Given the description of an element on the screen output the (x, y) to click on. 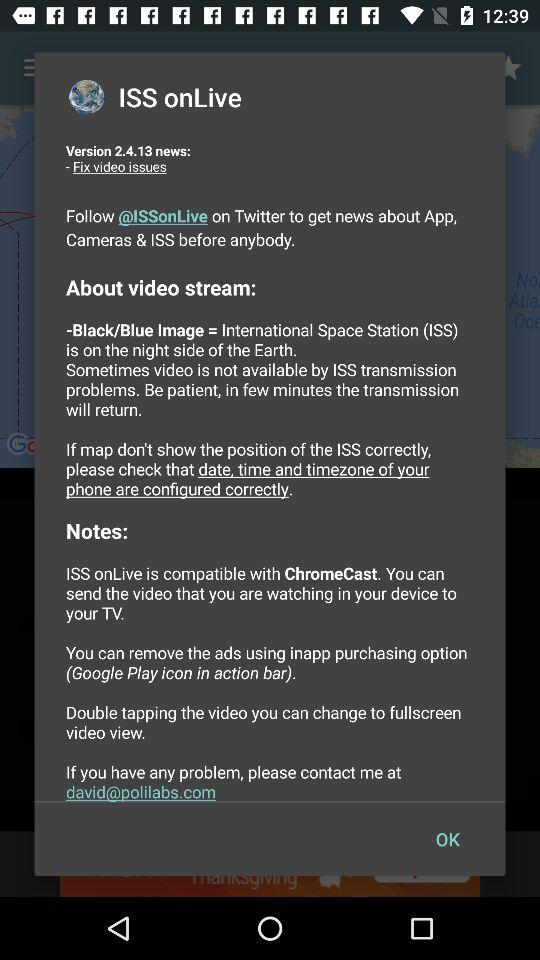
click the ok icon (447, 838)
